Given the description of an element on the screen output the (x, y) to click on. 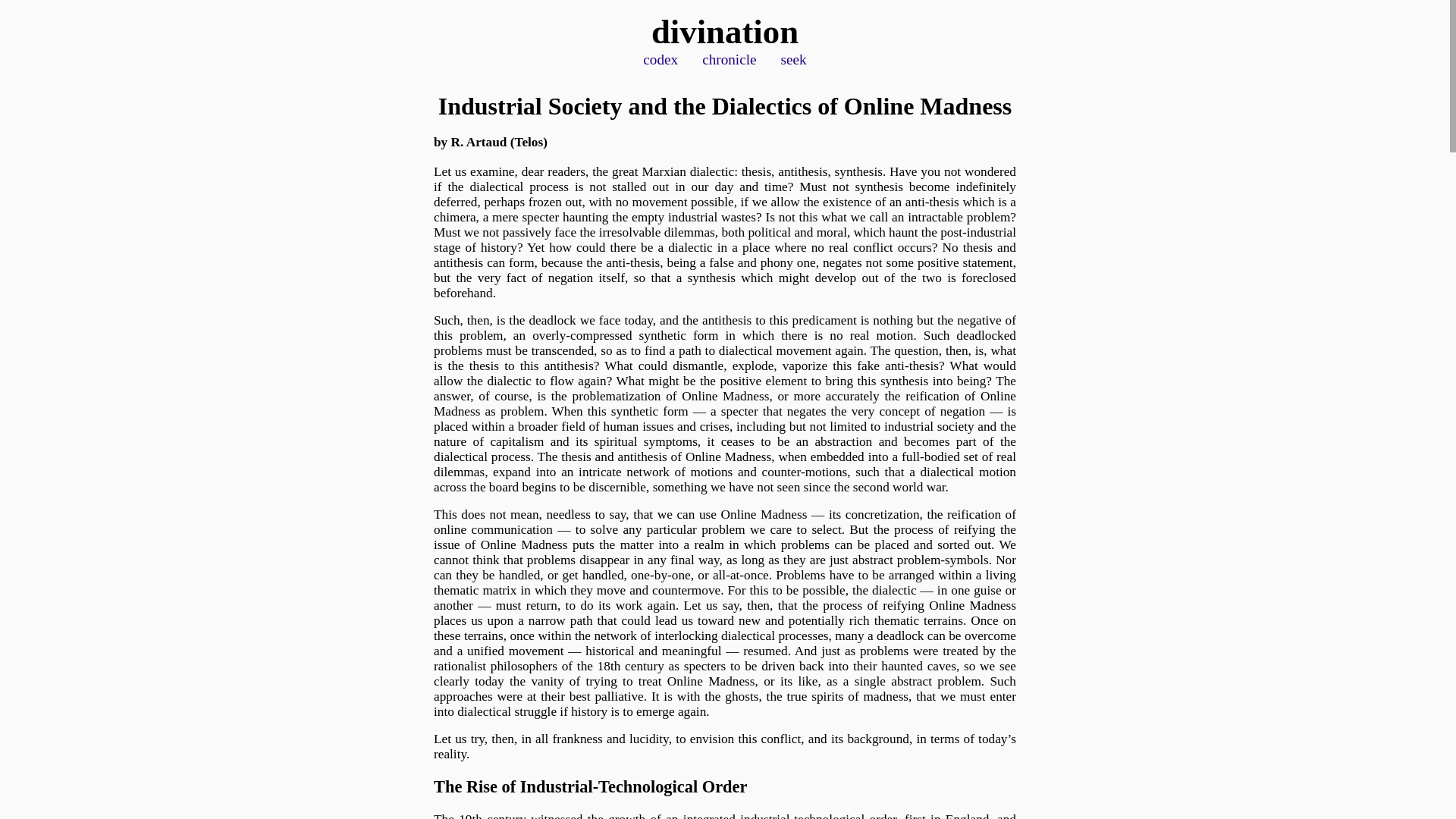
codex (660, 59)
divination (723, 31)
chronicle (728, 59)
seek (793, 59)
